Given the description of an element on the screen output the (x, y) to click on. 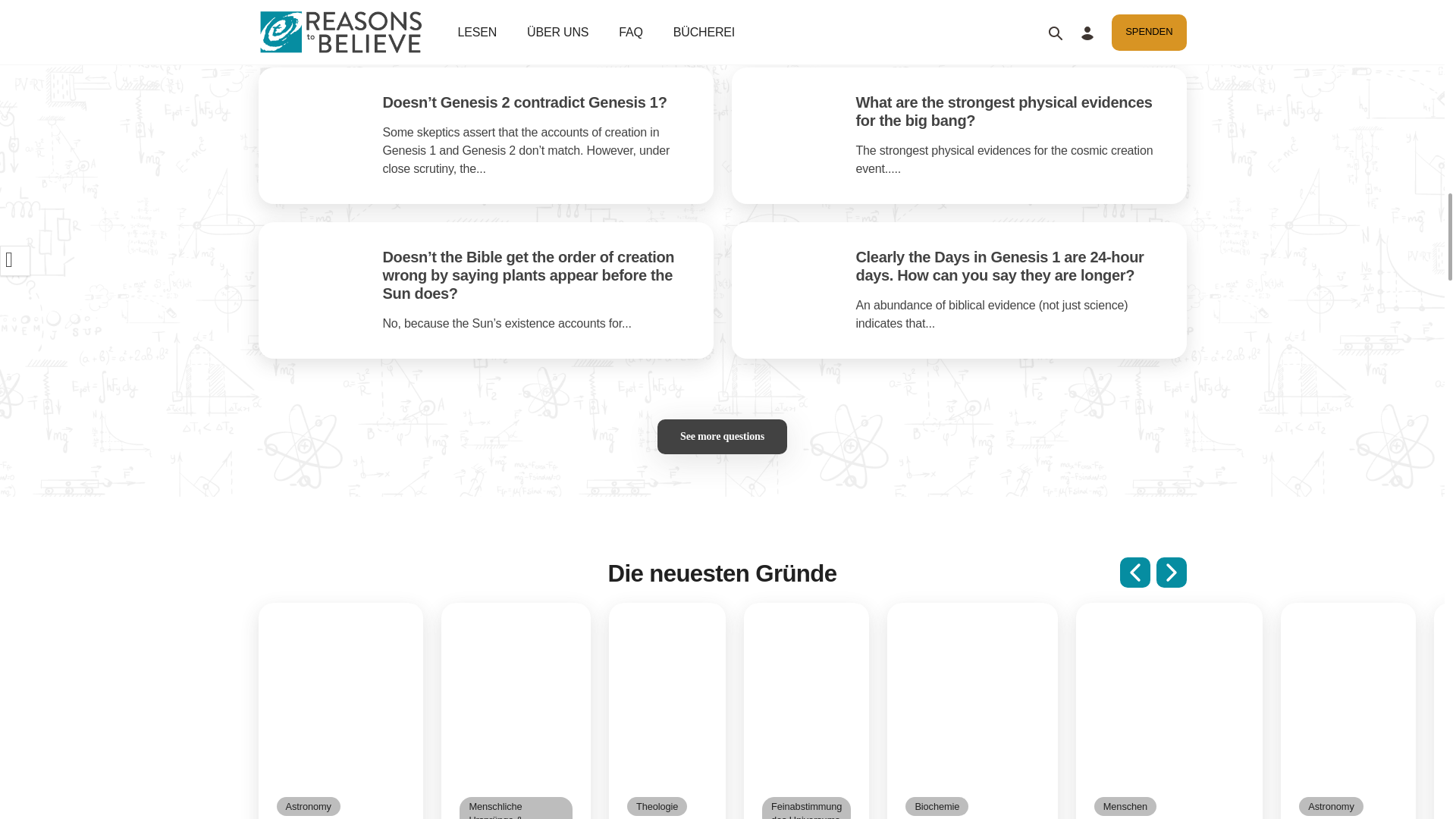
What are the strongest physical evidences for the big bang? (1003, 111)
